Given the description of an element on the screen output the (x, y) to click on. 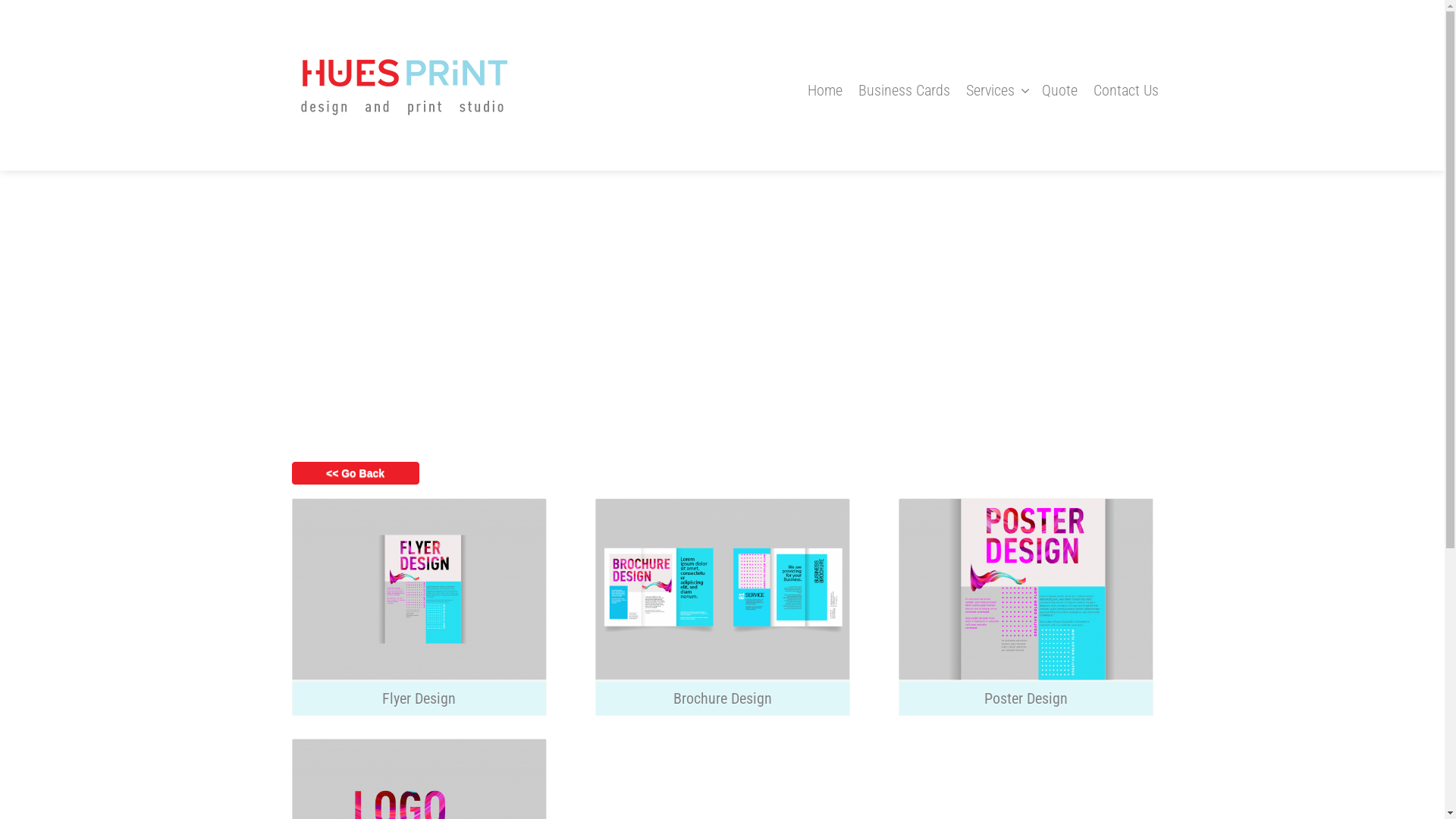
Home Element type: text (824, 90)
Services Element type: text (995, 90)
Poster Design Element type: text (1024, 697)
Brochure Design Element type: text (721, 697)
Business Cards Element type: text (903, 90)
Contact Us Element type: text (1125, 90)
Quote Element type: text (1059, 90)
<< Go Back Element type: text (354, 472)
Flyer Design Element type: text (418, 697)
